Given the description of an element on the screen output the (x, y) to click on. 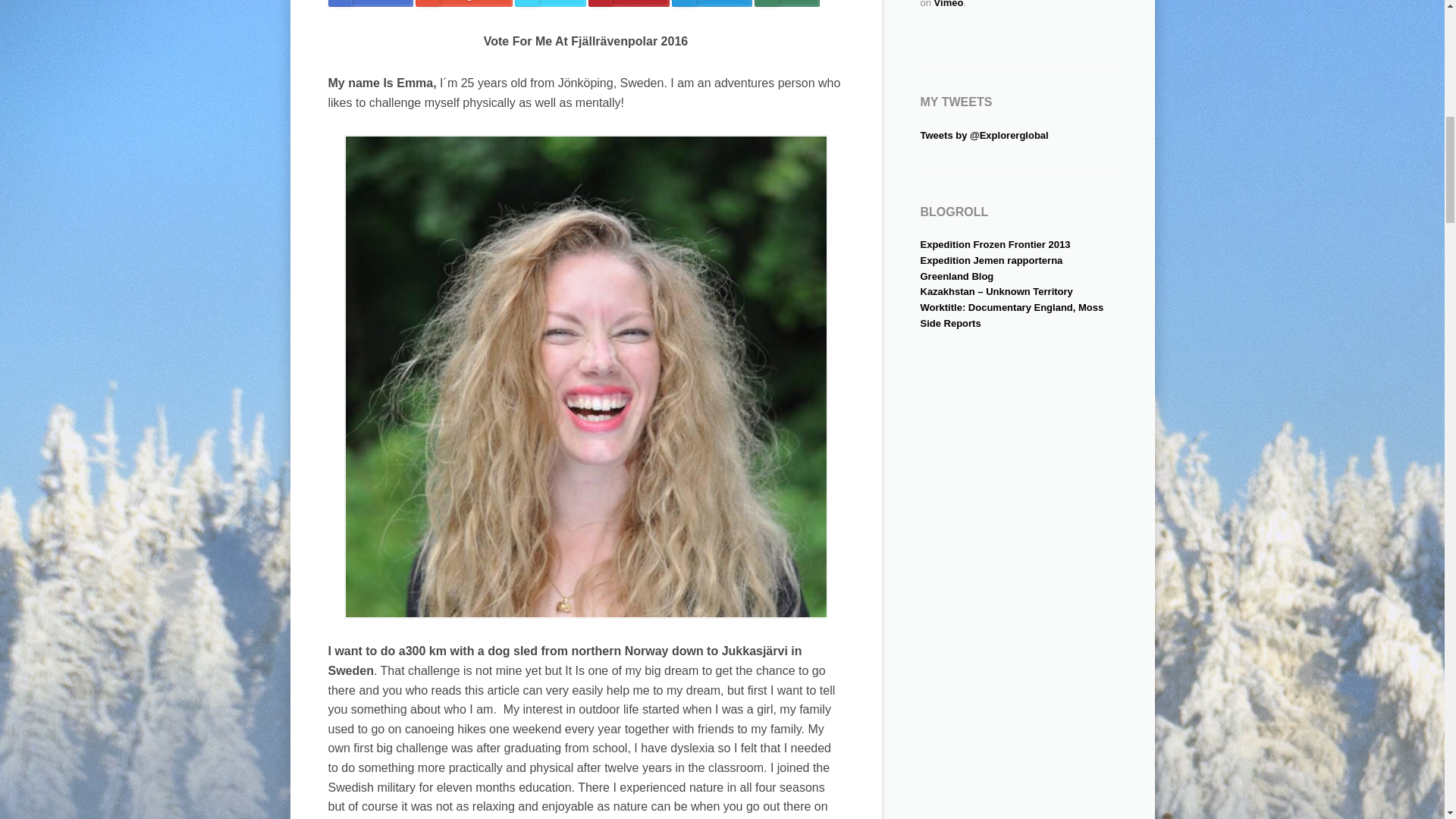
Expedition Jemen rapporterna (991, 260)
Our time in greenland, the whole family (957, 276)
